Given the description of an element on the screen output the (x, y) to click on. 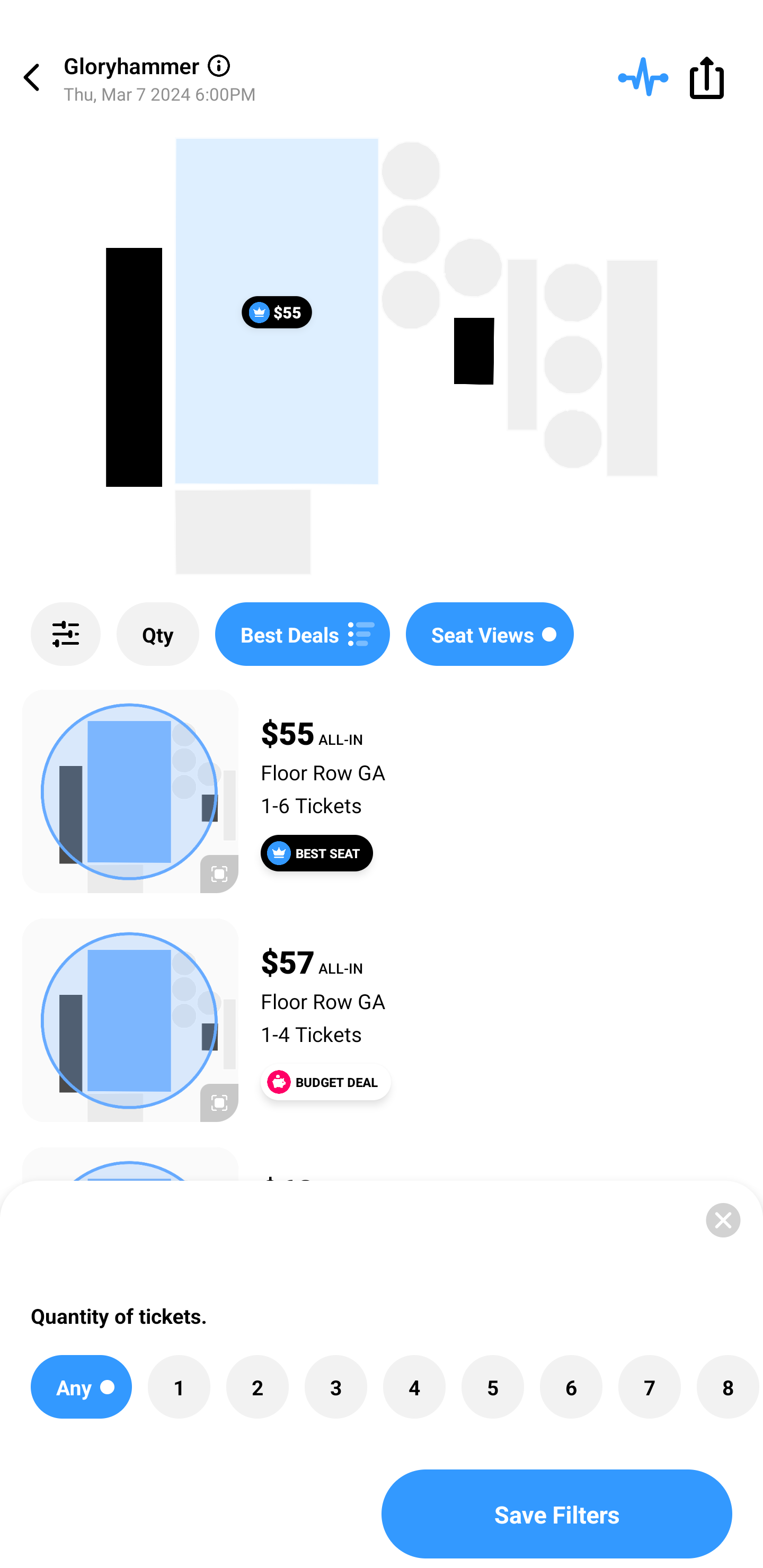
Any (80, 1386)
1 (179, 1386)
2 (257, 1386)
3 (335, 1386)
4 (414, 1386)
5 (492, 1386)
6 (571, 1386)
7 (649, 1386)
8 (727, 1386)
Save Filters (556, 1513)
